Given the description of an element on the screen output the (x, y) to click on. 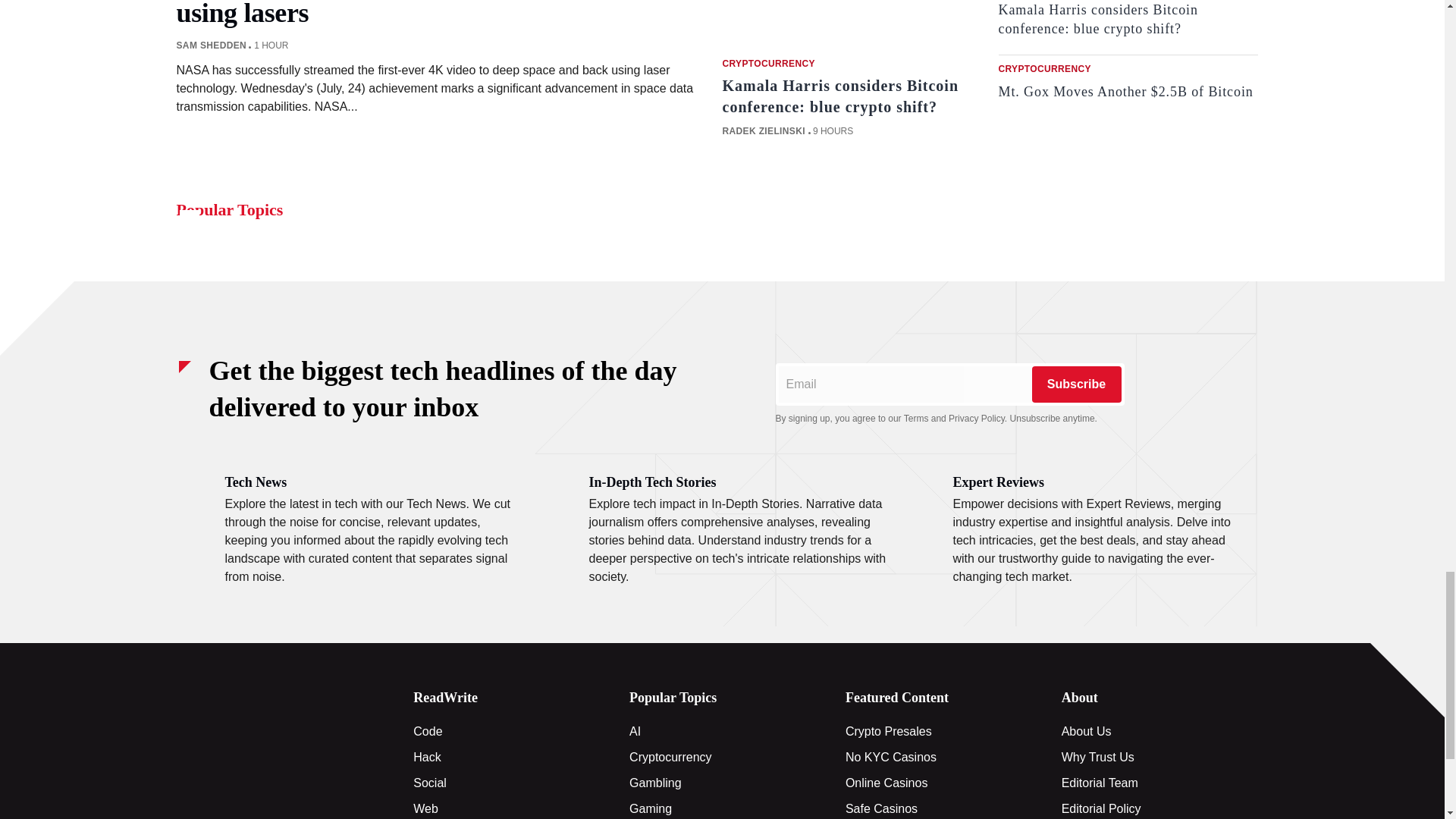
Subscribe (1075, 384)
